Given the description of an element on the screen output the (x, y) to click on. 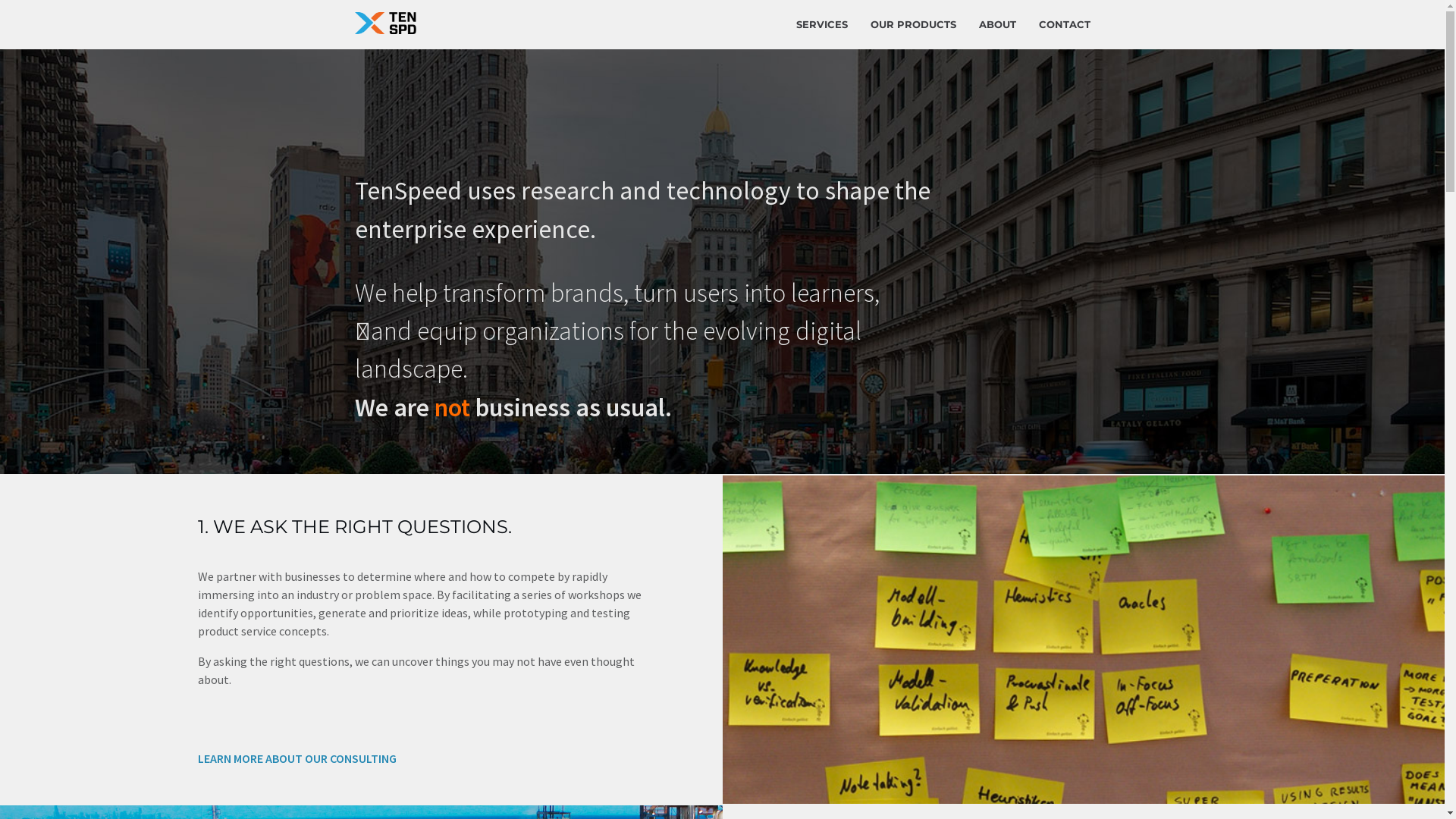
CHANGE MANAGEMENT Element type: text (821, 73)
USER EXPERIENCE & DESIGN Element type: text (821, 172)
ABOUT Element type: text (997, 24)
SERVICES Element type: text (821, 24)
LEARN MORE ABOUT OUR CONSULTING Element type: text (419, 758)
ENTERPRISE CONTENT MANAGEMENT Element type: text (821, 122)
OUR PRODUCTS Element type: text (912, 24)
CONTACT Element type: text (1063, 24)
FORMFACTOR Element type: text (912, 122)
JUMPSEAT Element type: text (912, 73)
